Given the description of an element on the screen output the (x, y) to click on. 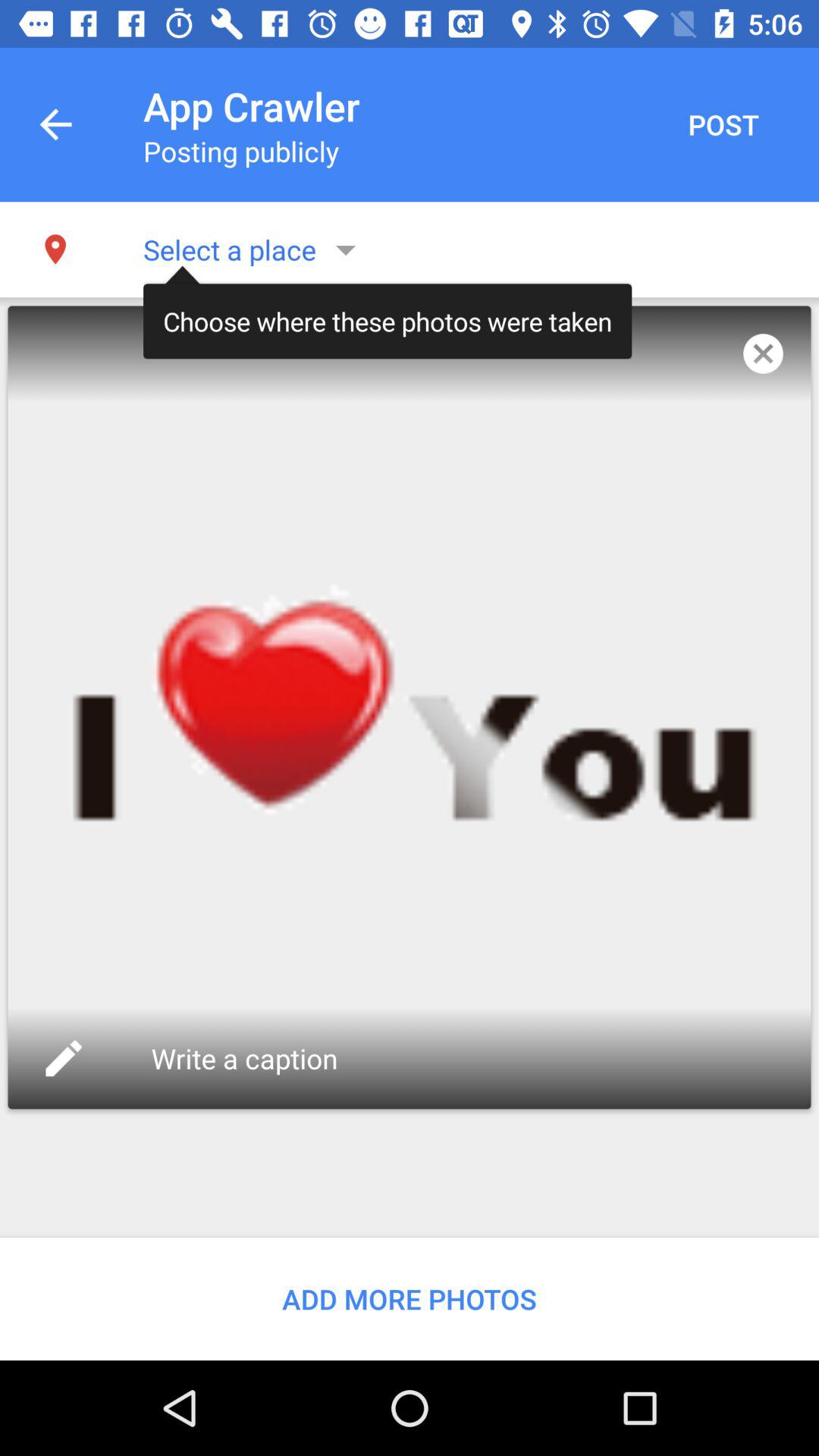
select the post (723, 124)
